Given the description of an element on the screen output the (x, y) to click on. 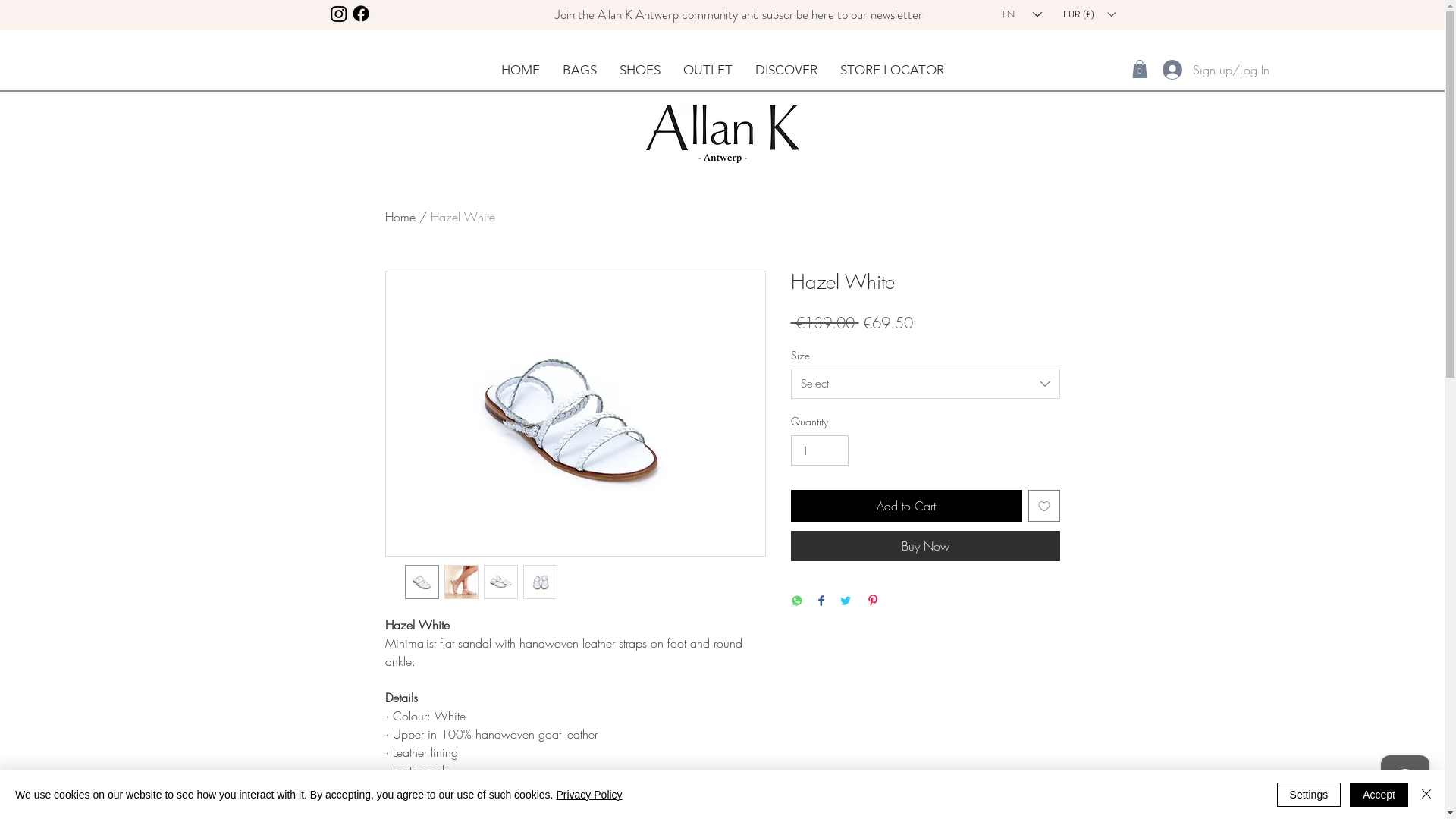
Select Element type: text (924, 383)
Home Element type: text (400, 216)
Sign up/Log In Element type: text (1182, 69)
Visitor Analytics Element type: hover (1442, 4)
OUTLET Element type: text (707, 69)
HOME Element type: text (520, 69)
STORE LOCATOR Element type: text (891, 69)
Add to Cart Element type: text (905, 505)
Accept Element type: text (1378, 794)
0 Element type: text (1138, 68)
Hazel White Element type: text (462, 216)
SHOES Element type: text (639, 69)
Privacy Policy Element type: text (588, 794)
BAGS Element type: text (578, 69)
Buy Now Element type: text (924, 545)
Settings Element type: text (1309, 794)
